Given the description of an element on the screen output the (x, y) to click on. 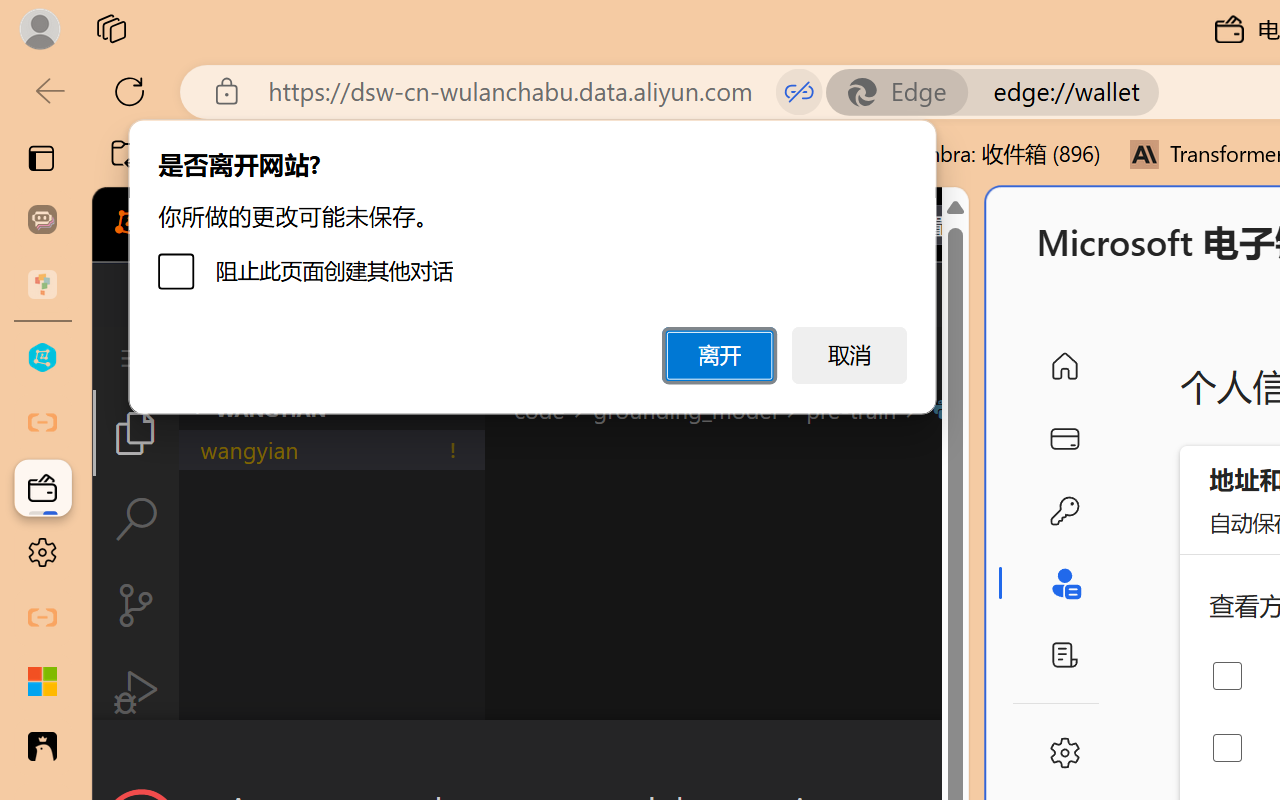
Close Dialog (959, 756)
Adjust indents and spacing - Microsoft Support (42, 681)
Run and Debug (Ctrl+Shift+D) (135, 692)
